Given the description of an element on the screen output the (x, y) to click on. 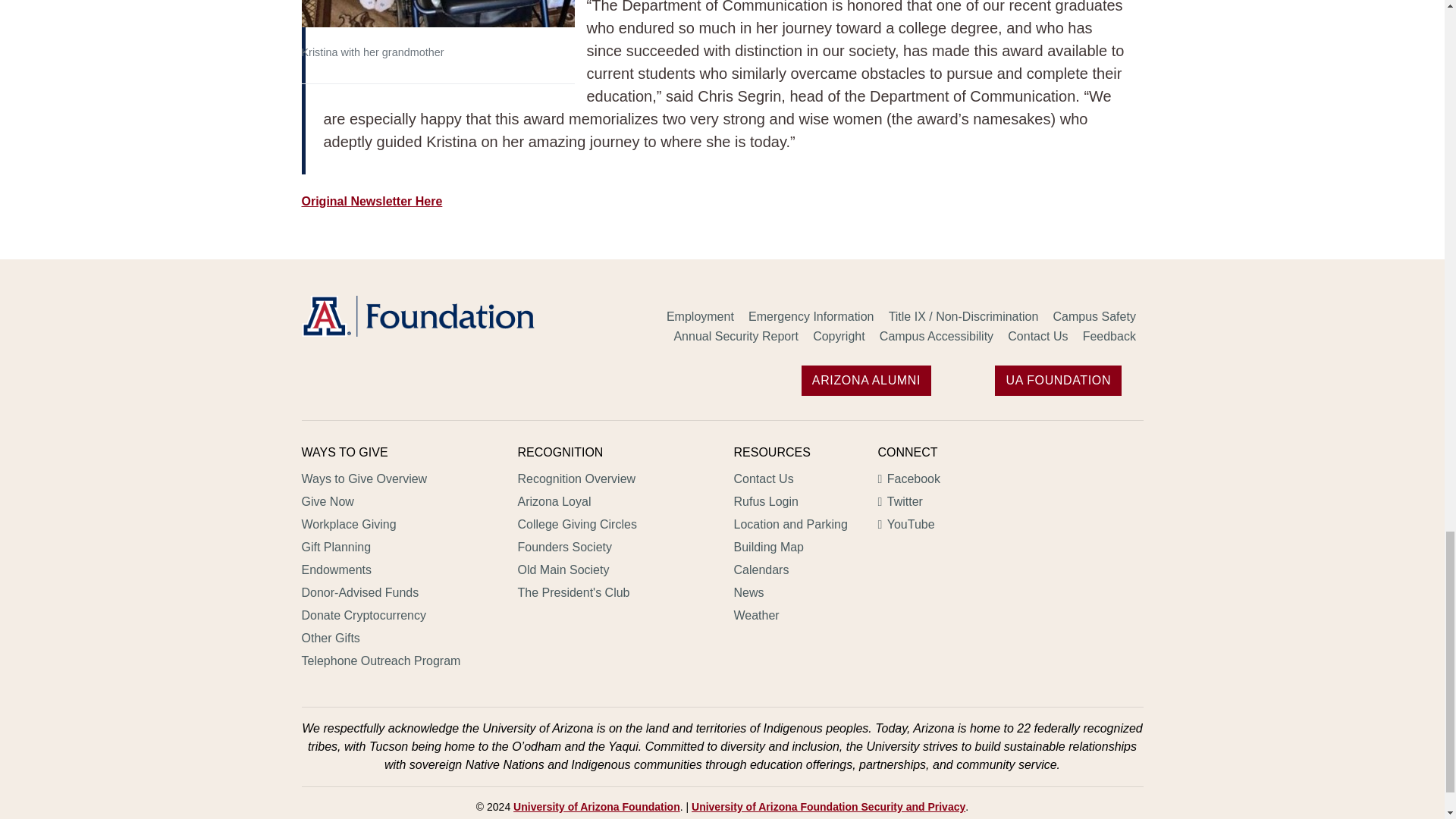
Employment (699, 317)
Emergency Information (810, 317)
Original Newsletter Here (371, 201)
